Given the description of an element on the screen output the (x, y) to click on. 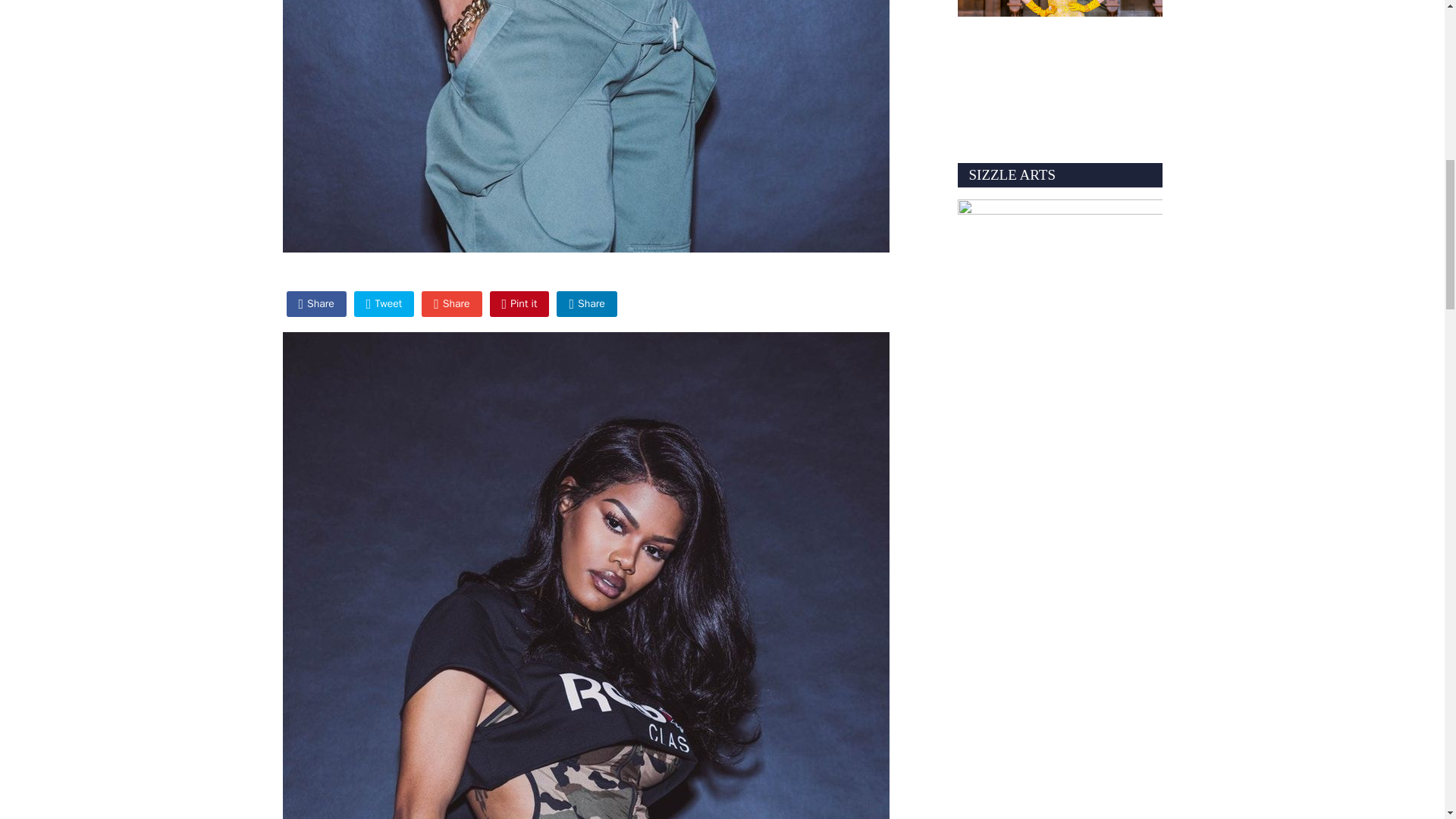
Share (316, 303)
Share (585, 303)
Share (451, 303)
Tweet (383, 303)
Pint it (519, 303)
